Given the description of an element on the screen output the (x, y) to click on. 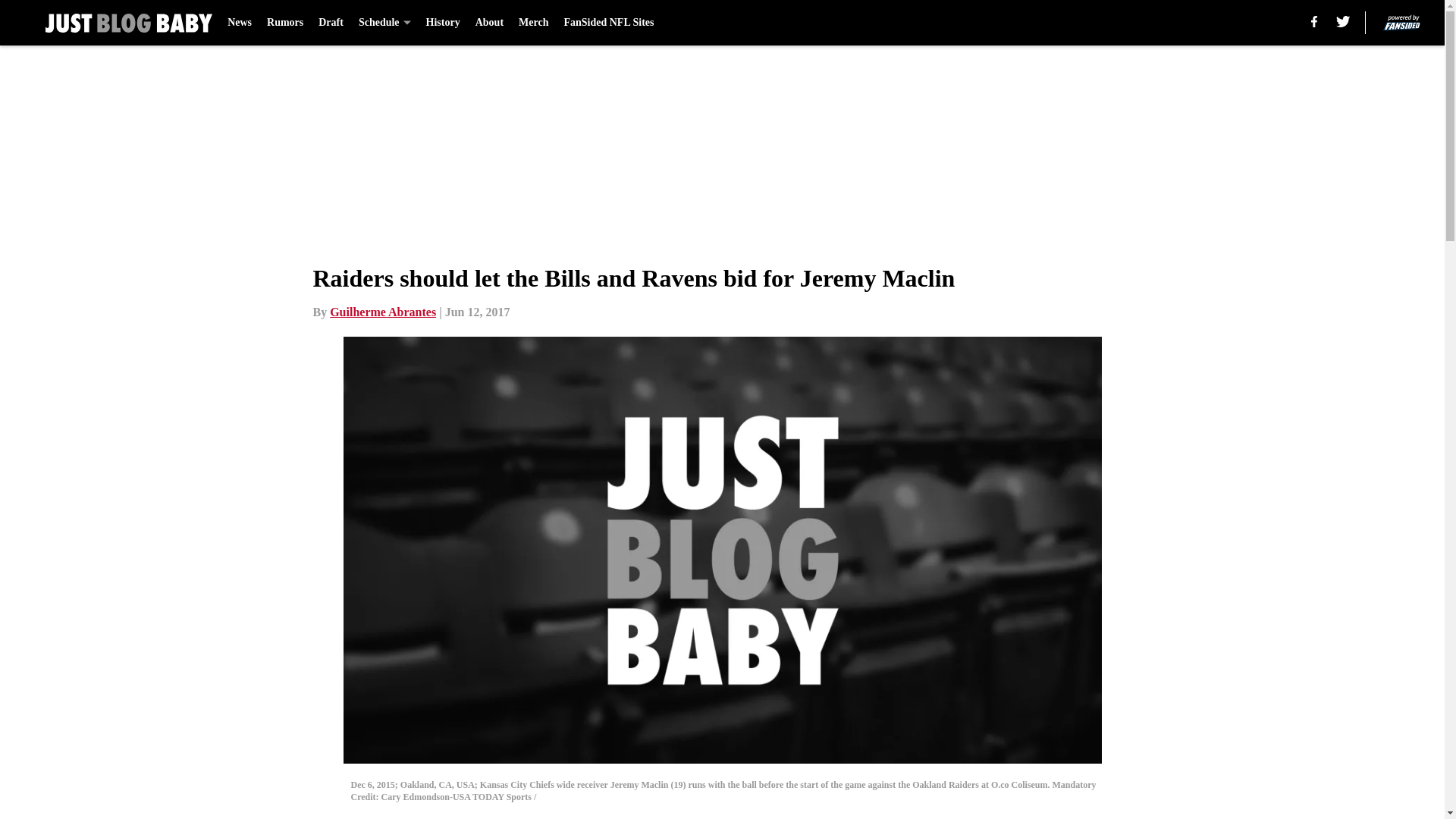
History (443, 22)
Merch (533, 22)
Guilherme Abrantes (382, 311)
Draft (330, 22)
About (489, 22)
FanSided NFL Sites (608, 22)
News (239, 22)
Rumors (284, 22)
